Given the description of an element on the screen output the (x, y) to click on. 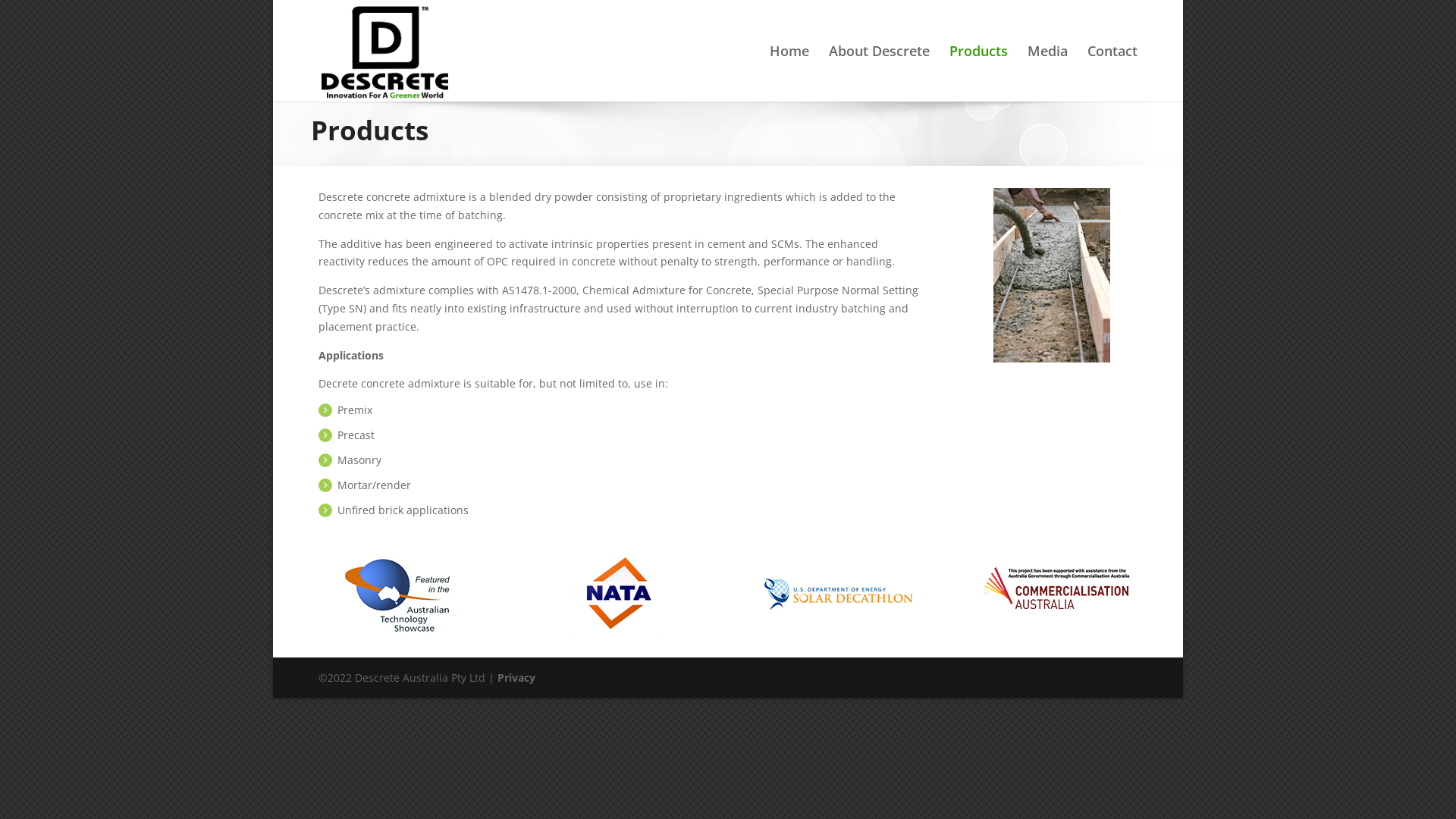
Products Element type: text (978, 73)
Contact Element type: text (1112, 73)
About Descrete Element type: text (878, 73)
Media Element type: text (1047, 73)
Privacy Element type: text (516, 677)
Home Element type: text (789, 73)
